Given the description of an element on the screen output the (x, y) to click on. 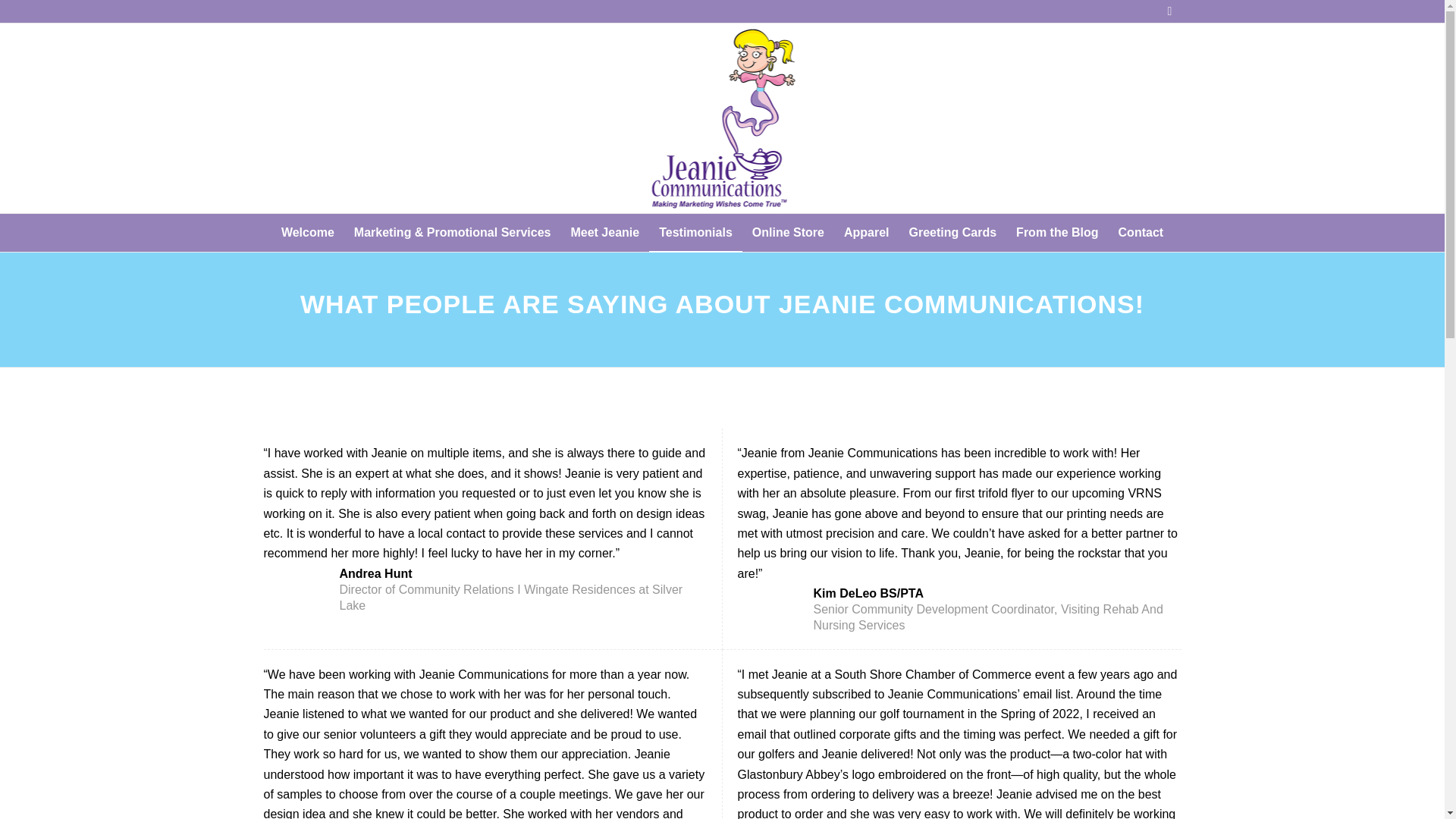
Welcome (306, 232)
Testimonials (695, 232)
From the Blog (1057, 232)
LinkedIn (1169, 11)
Contact (1140, 232)
Greeting Cards (953, 232)
Online Store (788, 232)
Meet Jeanie (604, 232)
Apparel (866, 232)
